Given the description of an element on the screen output the (x, y) to click on. 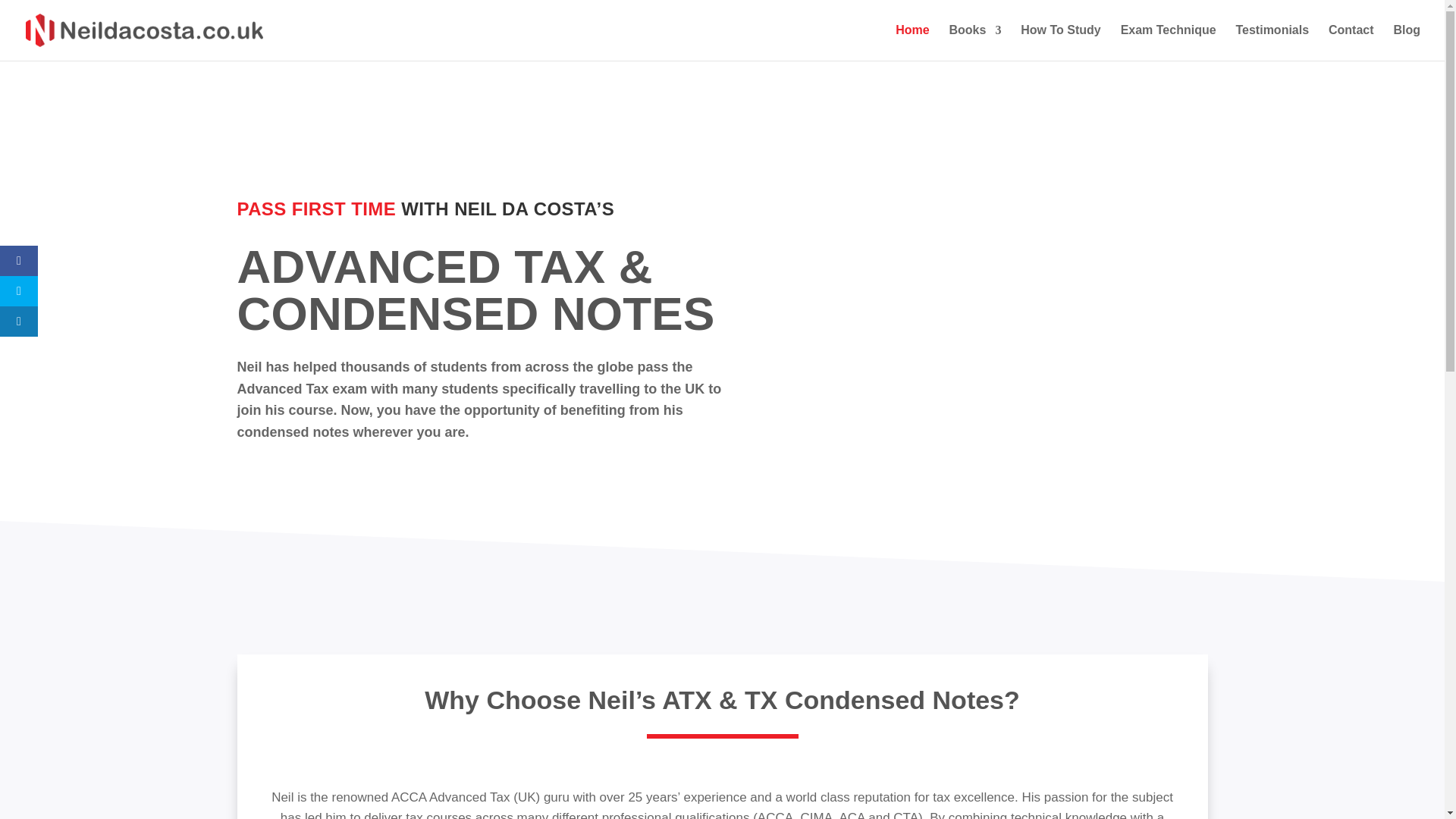
Contact (1350, 42)
Exam Technique (1168, 42)
Testimonials (1271, 42)
Books (975, 42)
Home (911, 42)
How To Study (1060, 42)
